Given the description of an element on the screen output the (x, y) to click on. 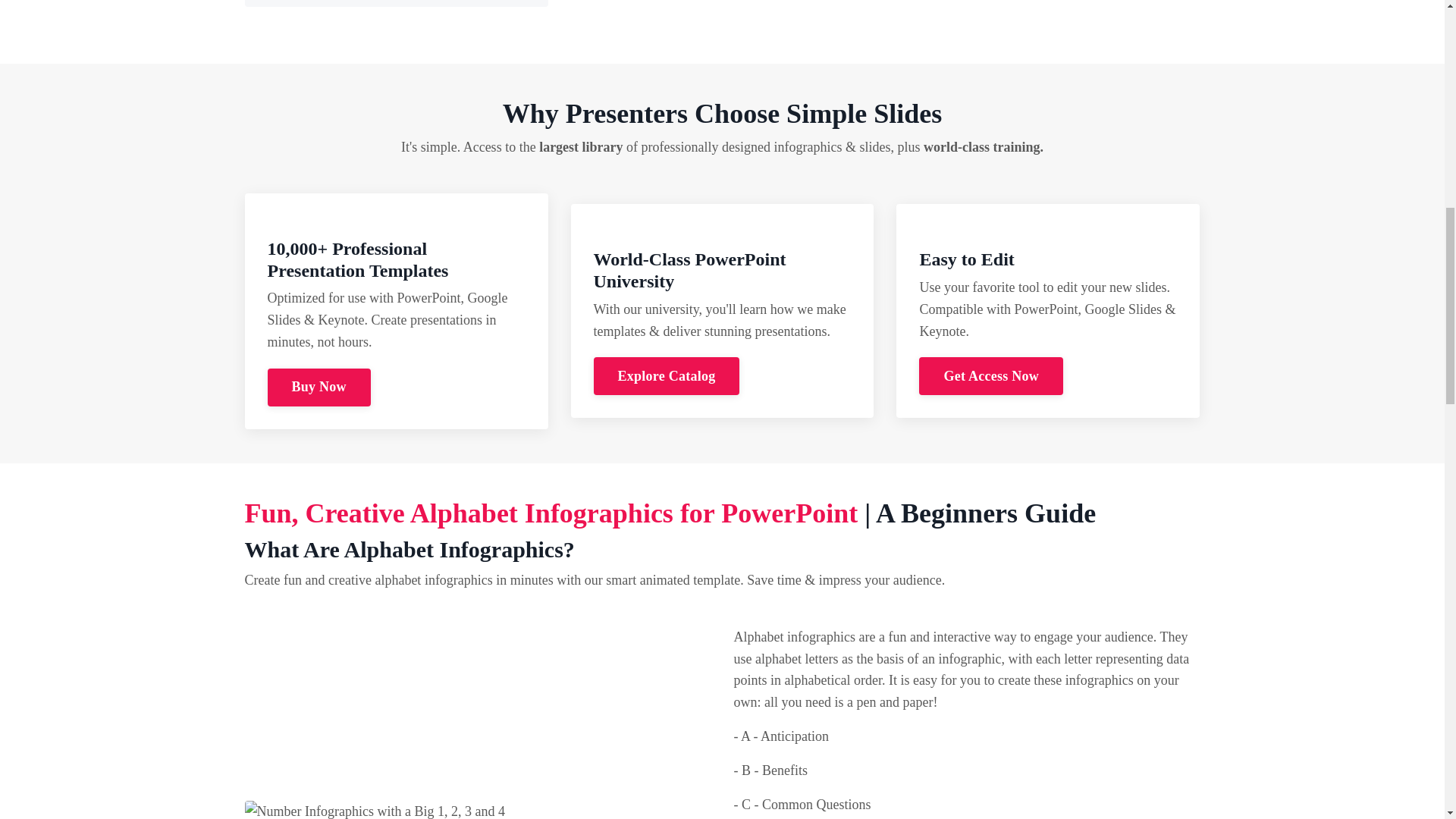
Buy Now (319, 387)
Explore Catalog (665, 375)
Get Access Now (990, 375)
